Given the description of an element on the screen output the (x, y) to click on. 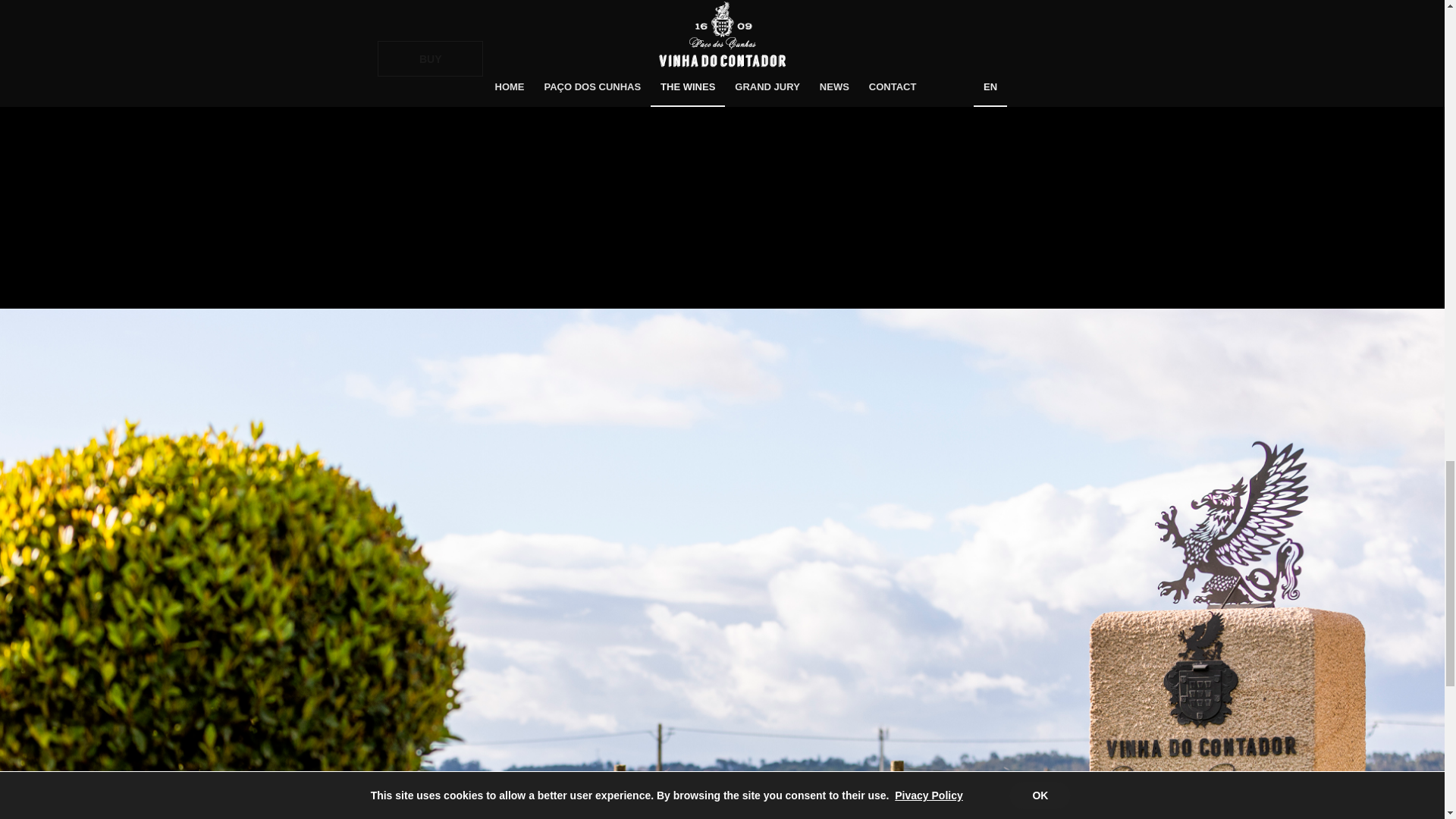
BUY (430, 58)
